Given the description of an element on the screen output the (x, y) to click on. 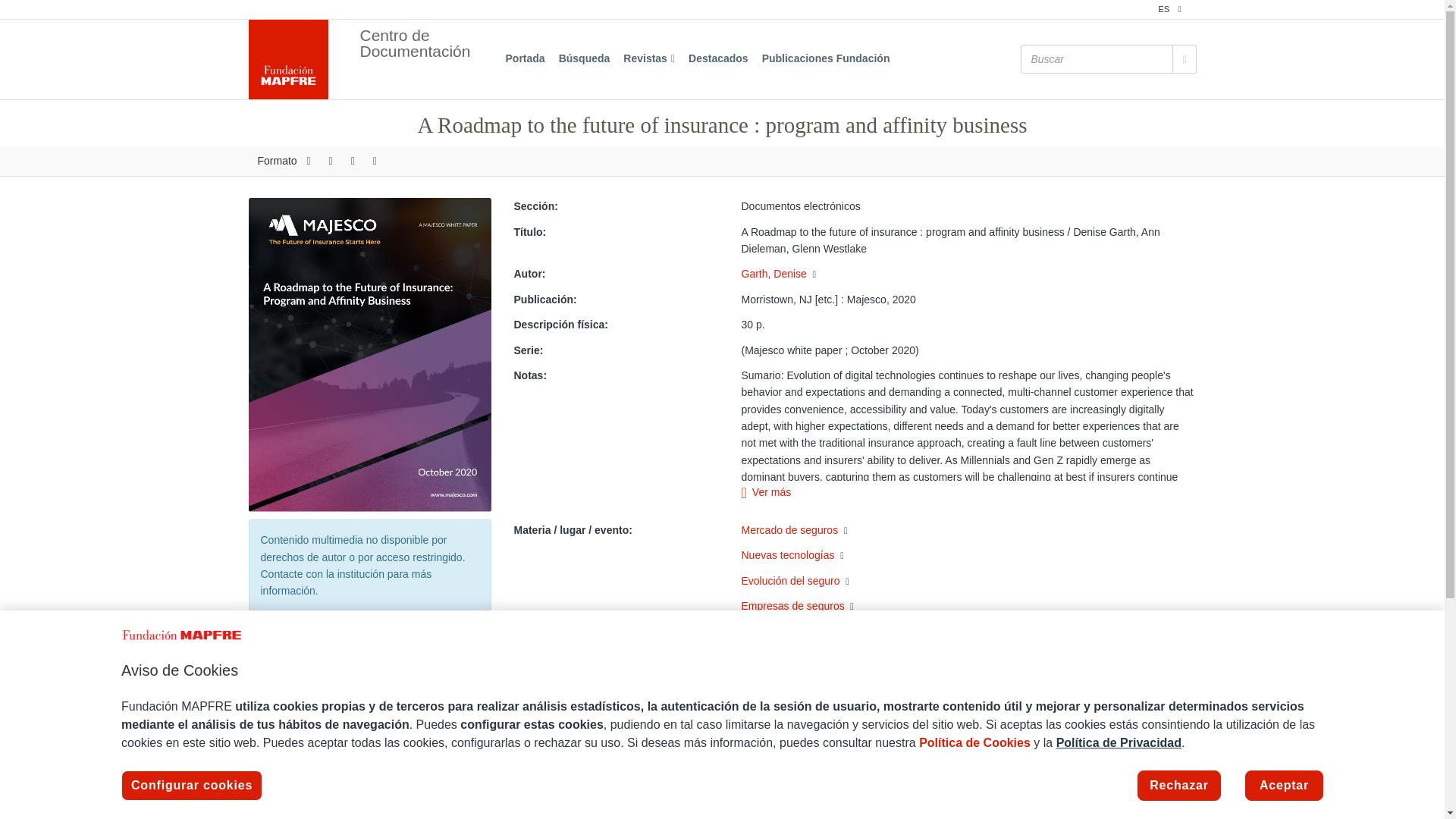
Descripciones relacionadas (811, 656)
Destacados (718, 59)
Portada (525, 59)
Descripciones relacionadas (852, 631)
Descripciones relacionadas (817, 699)
Descripciones relacionadas (814, 274)
Revistas (648, 59)
Exportar (331, 161)
Descripciones relacionadas (788, 716)
Compartir en redes sociales (353, 161)
Descripciones relacionadas (842, 555)
